Given the description of an element on the screen output the (x, y) to click on. 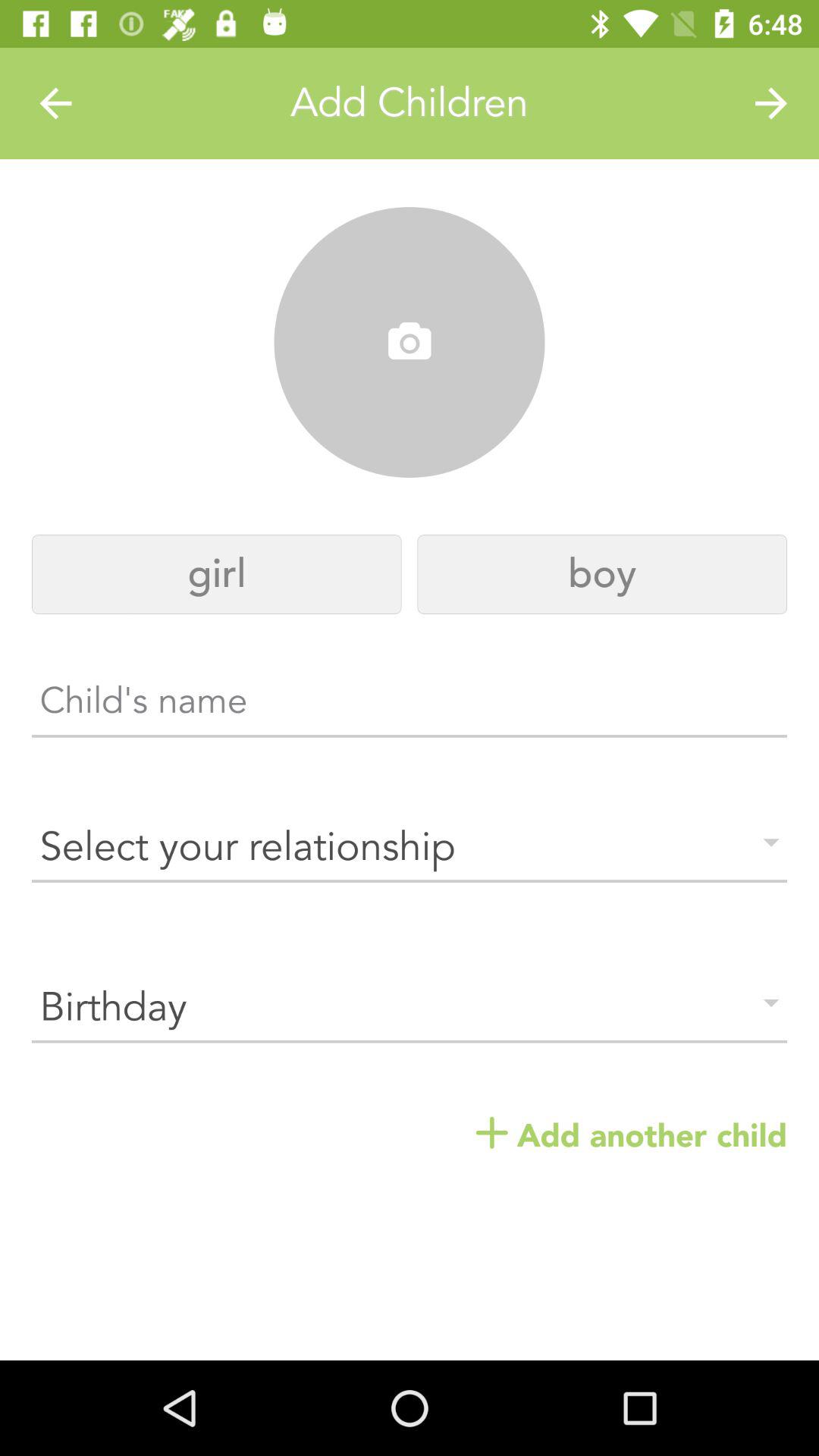
click on the text area which says childs name (409, 706)
click on the arrow symbol at the top most right corner of the web page (771, 103)
click on the option boy (602, 574)
select the text birthday (409, 1008)
select the text add another child (631, 1136)
click on select your relationship (409, 847)
